Given the description of an element on the screen output the (x, y) to click on. 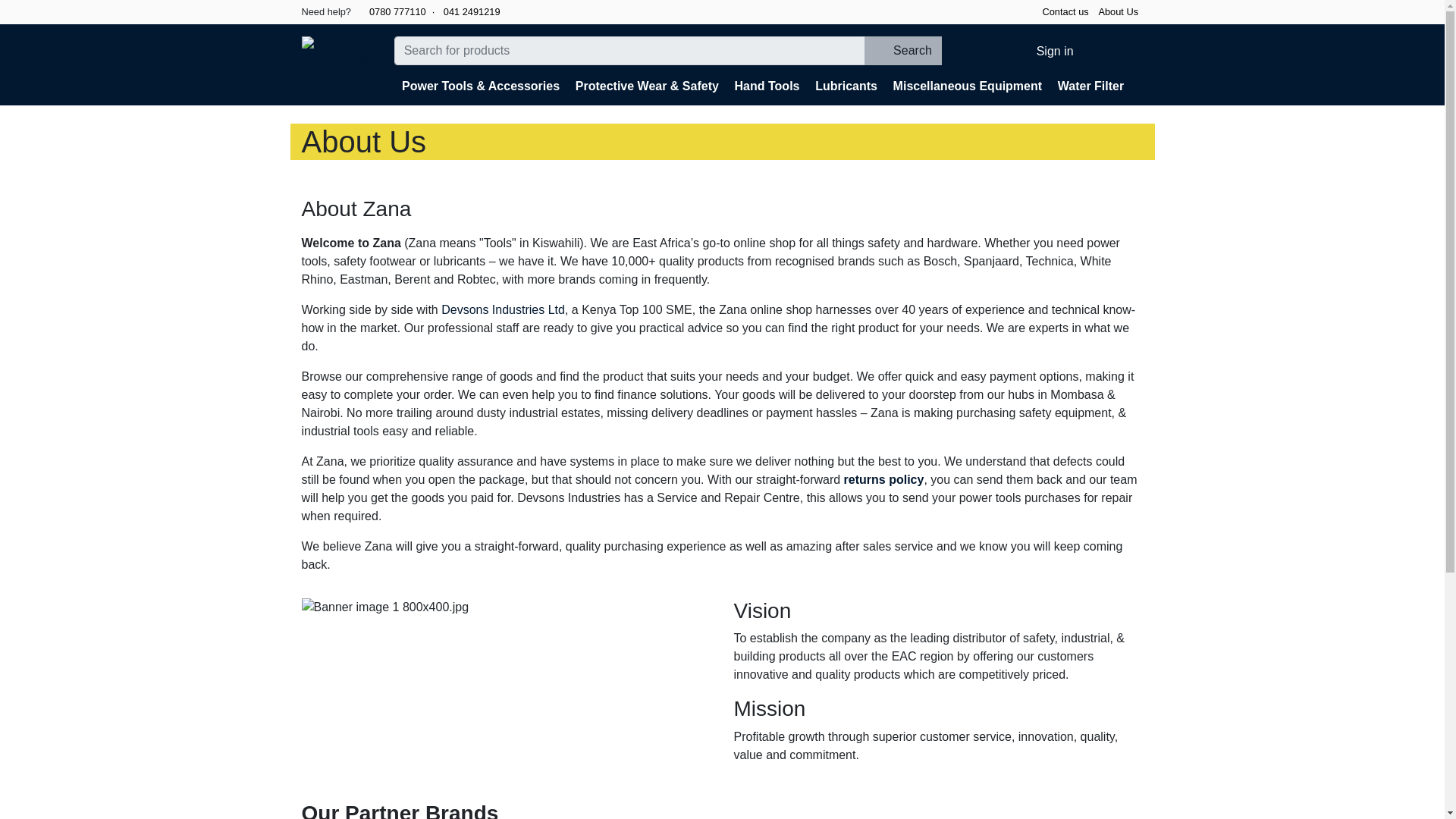
Water Filter (1090, 85)
Contact us (1064, 12)
Miscellaneous Equipment (967, 85)
Lubricants (846, 85)
Sign in (1045, 51)
Hand Tools (767, 85)
Zana (341, 54)
About Us (1117, 12)
Search (901, 50)
0780 777110 (391, 11)
